Given the description of an element on the screen output the (x, y) to click on. 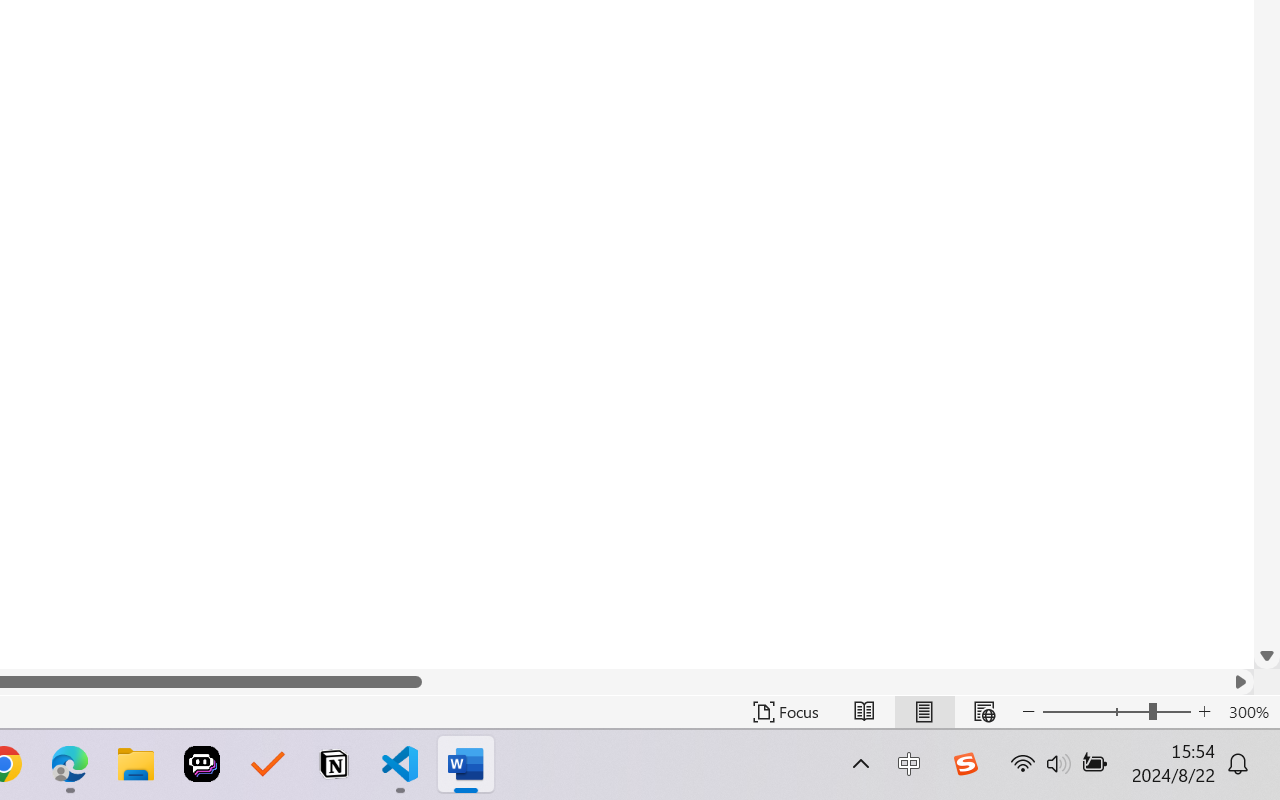
Class: Image (965, 764)
Zoom 300% (1249, 712)
Web Layout (984, 712)
Zoom (1116, 712)
Focus  (786, 712)
Zoom In (1204, 712)
Read Mode (864, 712)
Zoom Out (1095, 712)
Print Layout (924, 712)
